Given the description of an element on the screen output the (x, y) to click on. 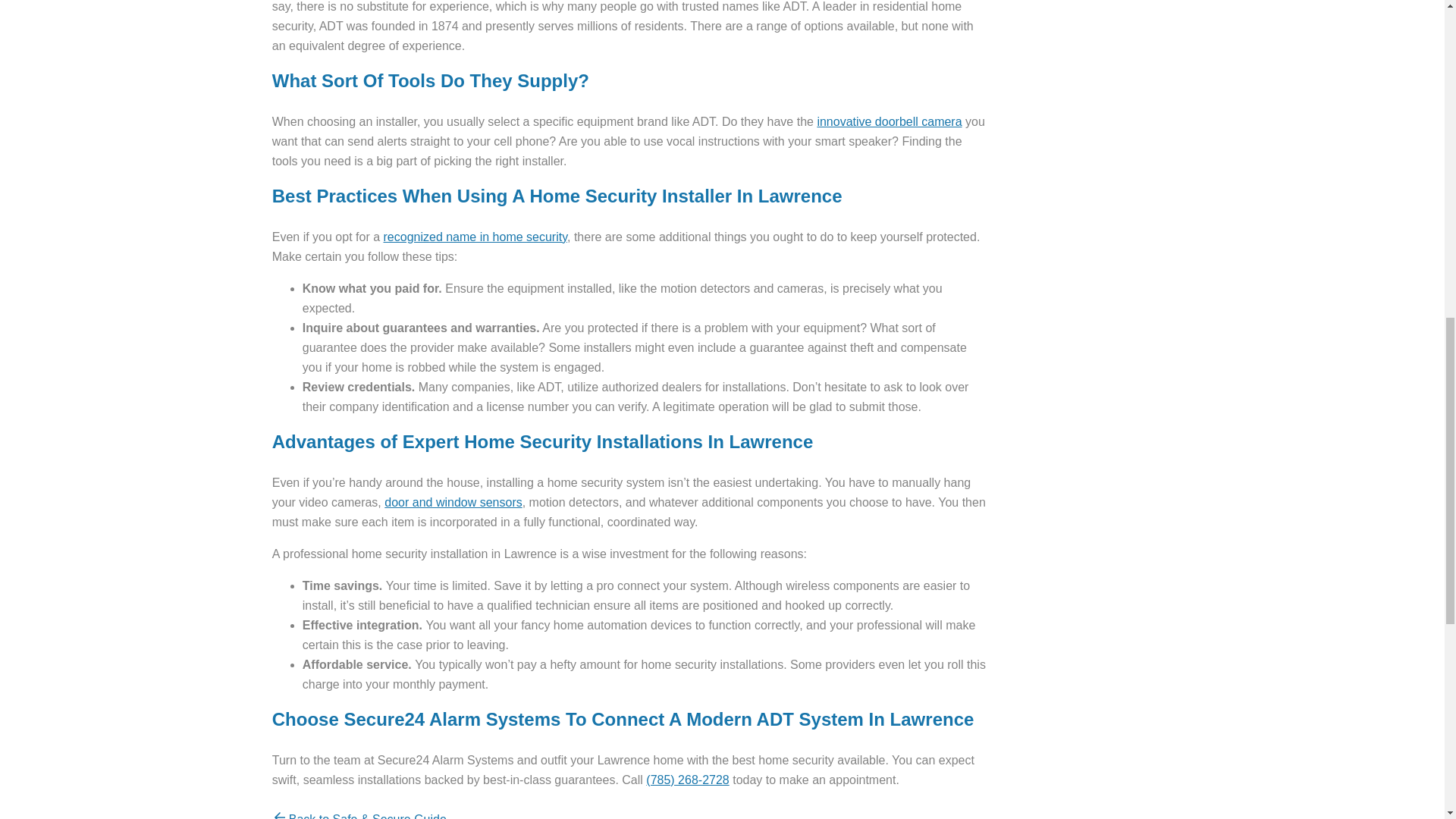
Recognized name in home security (475, 236)
Window and door sensors (452, 502)
Modern video doorbell (888, 121)
